Given the description of an element on the screen output the (x, y) to click on. 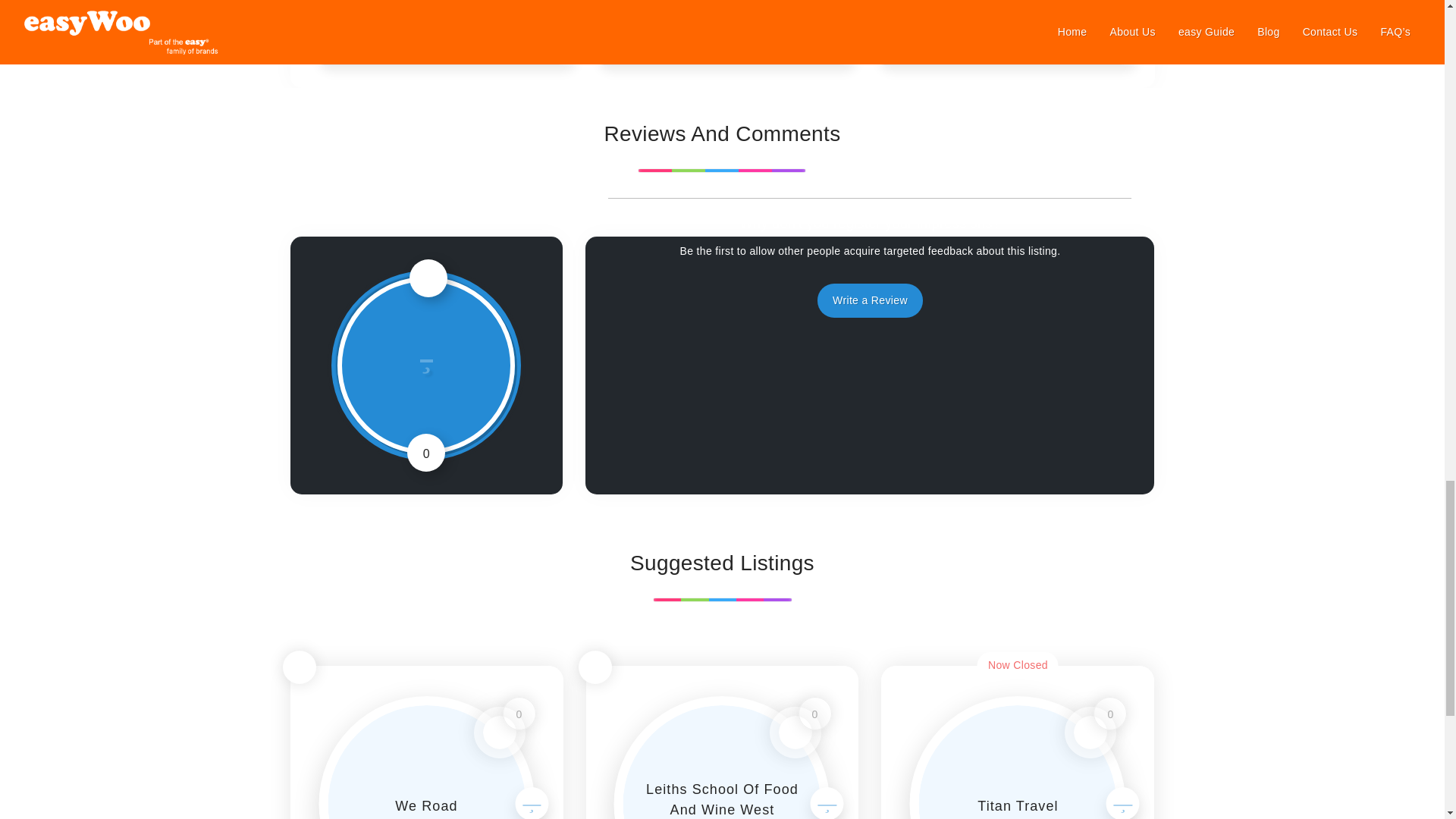
Is it Near Me? (594, 666)
Is it Near Me? (298, 666)
